Given the description of an element on the screen output the (x, y) to click on. 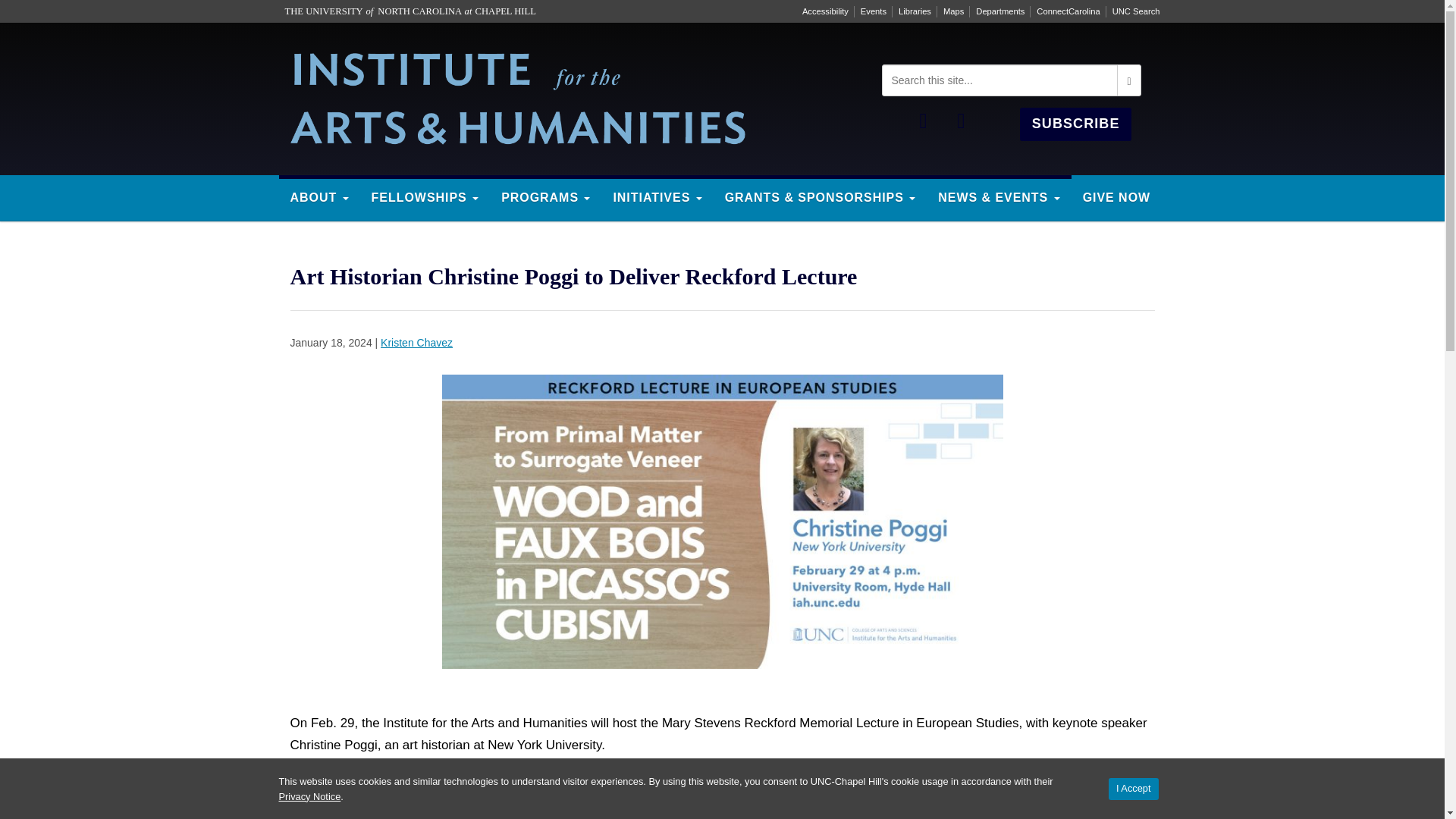
FELLOWSHIPS (424, 196)
Libraries (914, 11)
I Accept (1133, 789)
Departments (999, 11)
ABOUT (319, 196)
Accessibility (825, 11)
THE UNIVERSITY of NORTH CAROLINA at CHAPEL HILL (410, 11)
Events (873, 11)
SUBSCRIBE (1076, 123)
Privacy Notice (309, 796)
UNC Search (1136, 11)
ConnectCarolina (1067, 11)
PROGRAMS (545, 196)
Maps (953, 11)
